Given the description of an element on the screen output the (x, y) to click on. 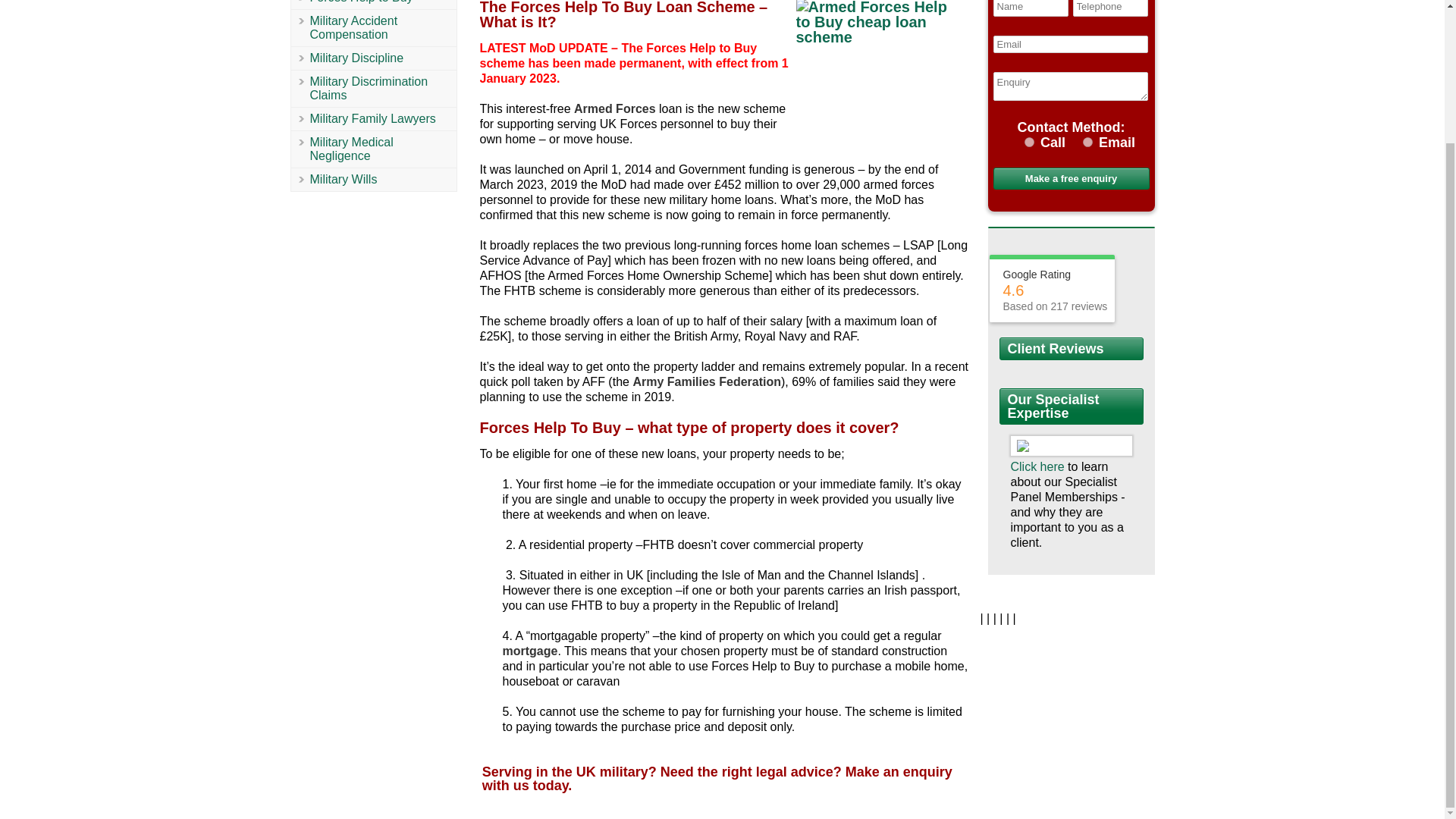
Call (1029, 142)
Make a free enquiry (1071, 178)
Email (1088, 142)
Armed Forces Help to Buy cheap loan scheme (879, 54)
